Given the description of an element on the screen output the (x, y) to click on. 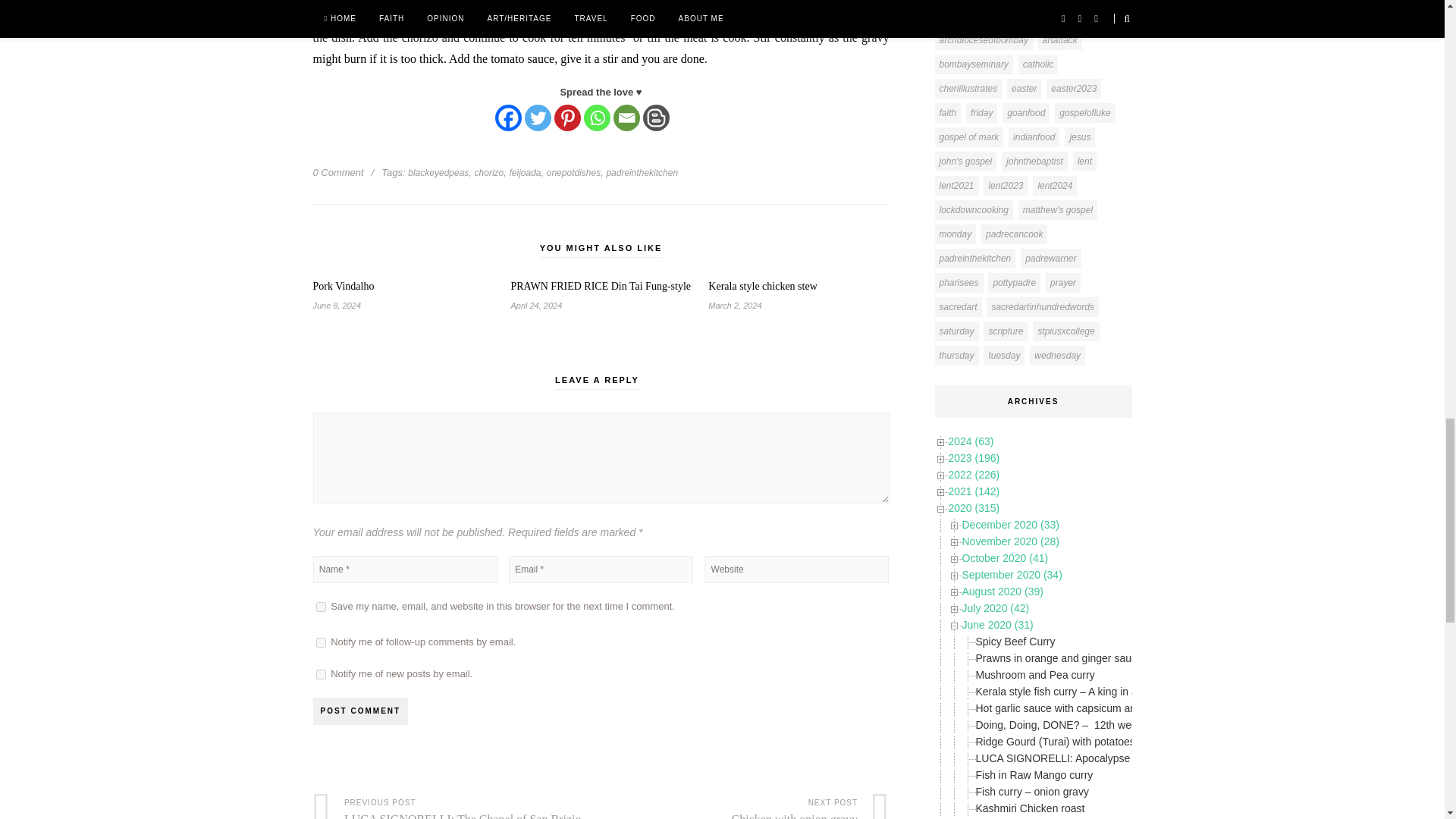
Email (625, 117)
Kerala style chicken stew (797, 286)
0 Comment (337, 172)
Pork Vindalho (403, 286)
subscribe (319, 674)
padreinthekitchen (641, 172)
chorizo (488, 172)
Post Comment (360, 710)
onepotdishes (573, 172)
